Given the description of an element on the screen output the (x, y) to click on. 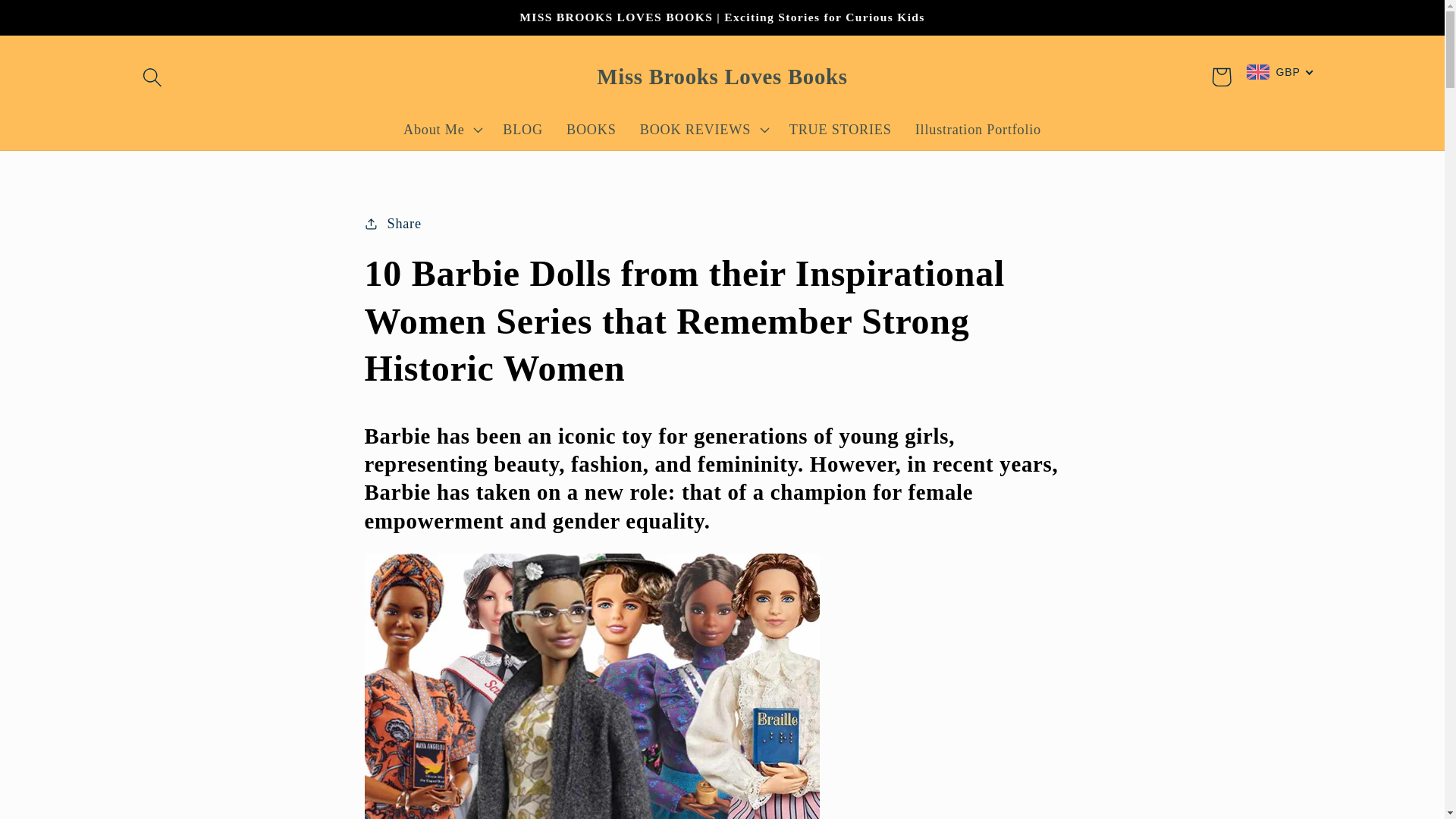
Skip to content (59, 22)
BLOG (523, 128)
Cart (1221, 76)
Miss Brooks Loves Books (722, 76)
Illustration Portfolio (977, 128)
BOOKS (590, 128)
TRUE STORIES (839, 128)
